Given the description of an element on the screen output the (x, y) to click on. 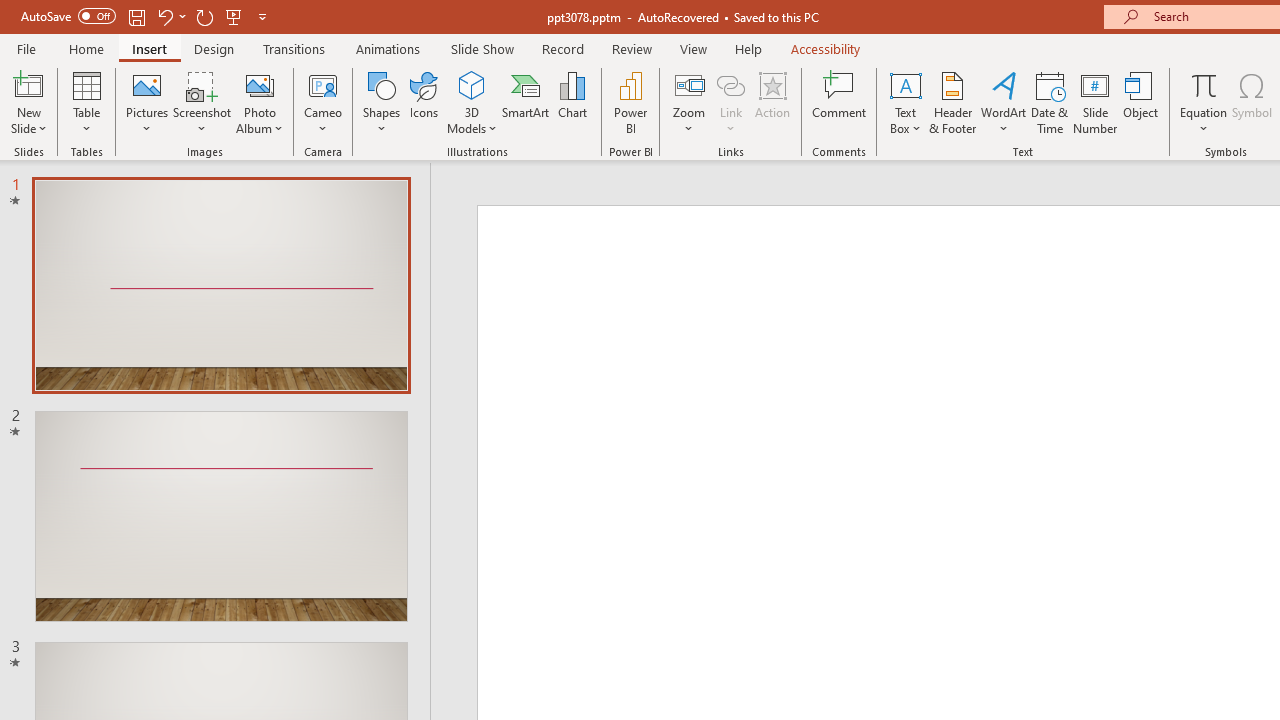
Equation (1203, 102)
Equation (1203, 84)
Pictures (147, 102)
Link (731, 84)
3D Models (472, 102)
Power BI (630, 102)
